Given the description of an element on the screen output the (x, y) to click on. 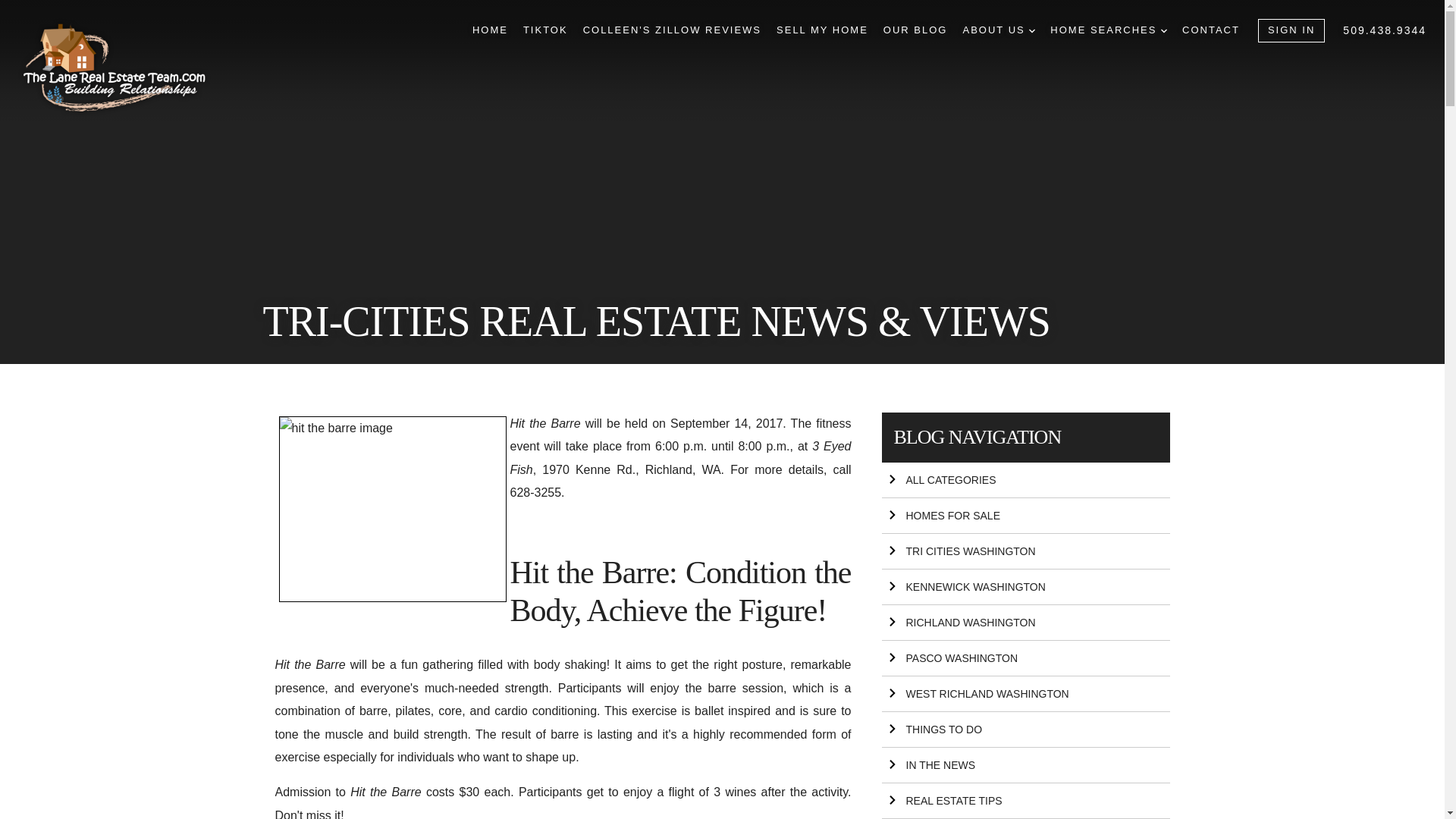
TIKTOK (544, 30)
DROPDOWN ARROW (1032, 30)
COLLEEN'S ZILLOW REVIEWS (672, 30)
HOME (489, 30)
OUR BLOG (915, 30)
CONTACT (1211, 30)
SELL MY HOME (821, 30)
HOME SEARCHES DROPDOWN ARROW (1108, 30)
DROPDOWN ARROW (1163, 30)
ABOUT US DROPDOWN ARROW (998, 30)
